Given the description of an element on the screen output the (x, y) to click on. 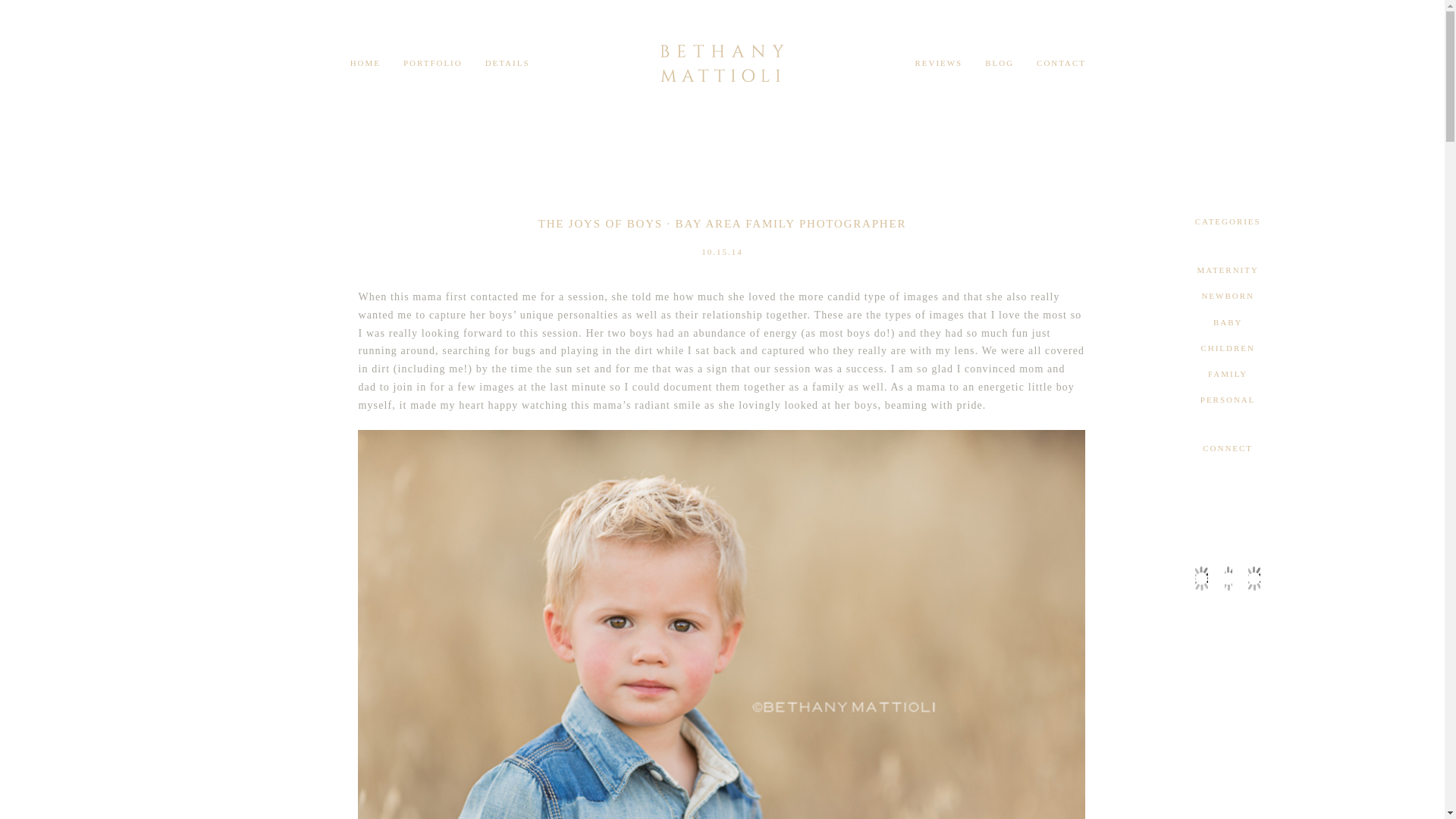
PORTFOLIO (433, 62)
BLOG (999, 62)
DETAILS (506, 62)
REVIEWS (938, 62)
HOME (365, 62)
CONTACT (1061, 62)
